Given the description of an element on the screen output the (x, y) to click on. 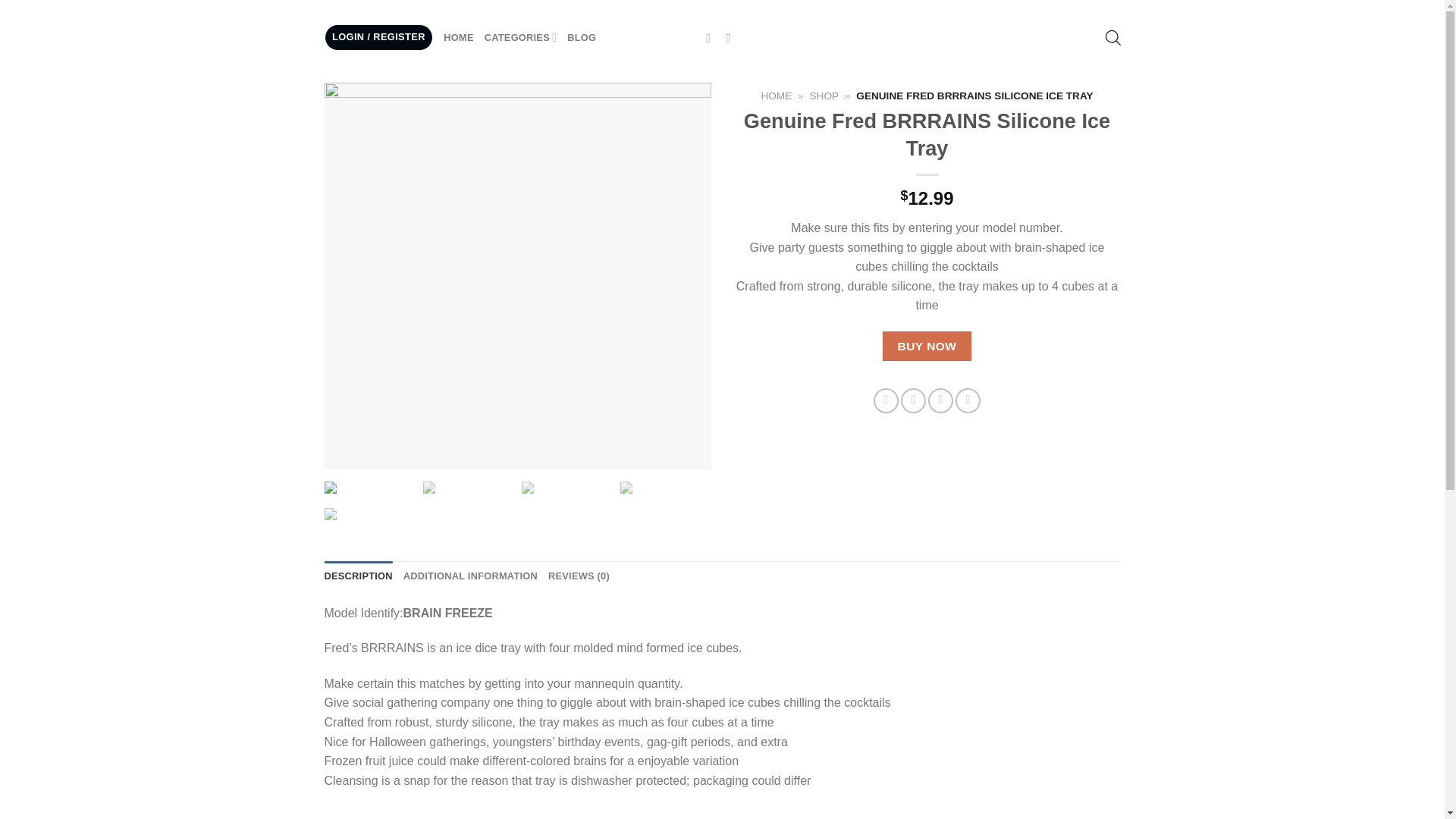
Pin on Pinterest (940, 400)
Share on Facebook (885, 400)
SHOP (824, 95)
HOME (458, 37)
BUY NOW (926, 346)
HOME (776, 95)
BLOG (581, 37)
Share on Twitter (913, 400)
CATEGORIES (520, 37)
